Given the description of an element on the screen output the (x, y) to click on. 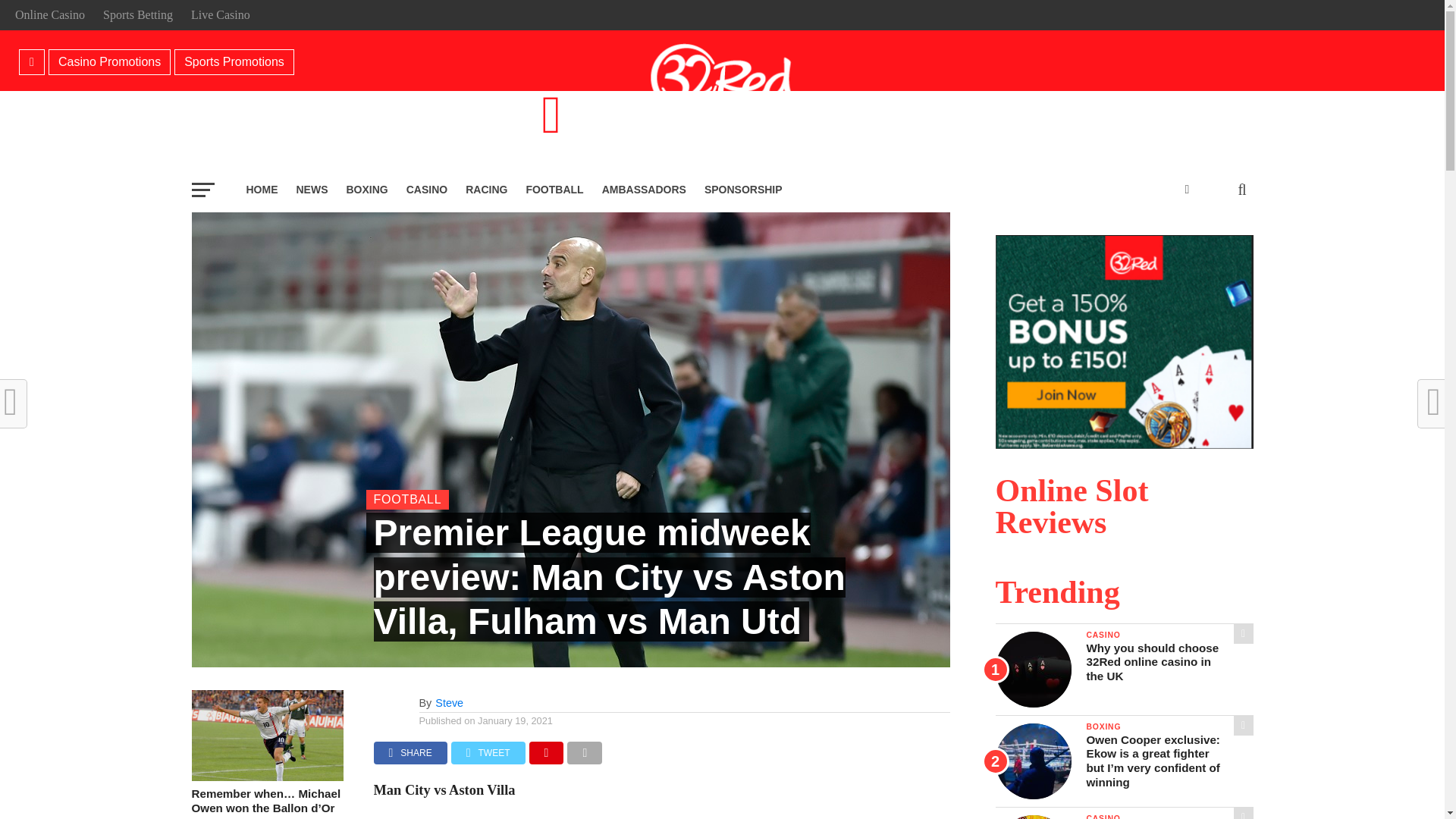
Home (31, 61)
Casino Promotions (109, 61)
Online Casino (49, 14)
Sports Promotions (234, 61)
Sports Betting (138, 14)
NEWS (311, 189)
CASINO (427, 189)
Posts by Steve (449, 702)
BOXING (366, 189)
HOME (260, 189)
RACING (486, 189)
Live Casino (220, 14)
